Given the description of an element on the screen output the (x, y) to click on. 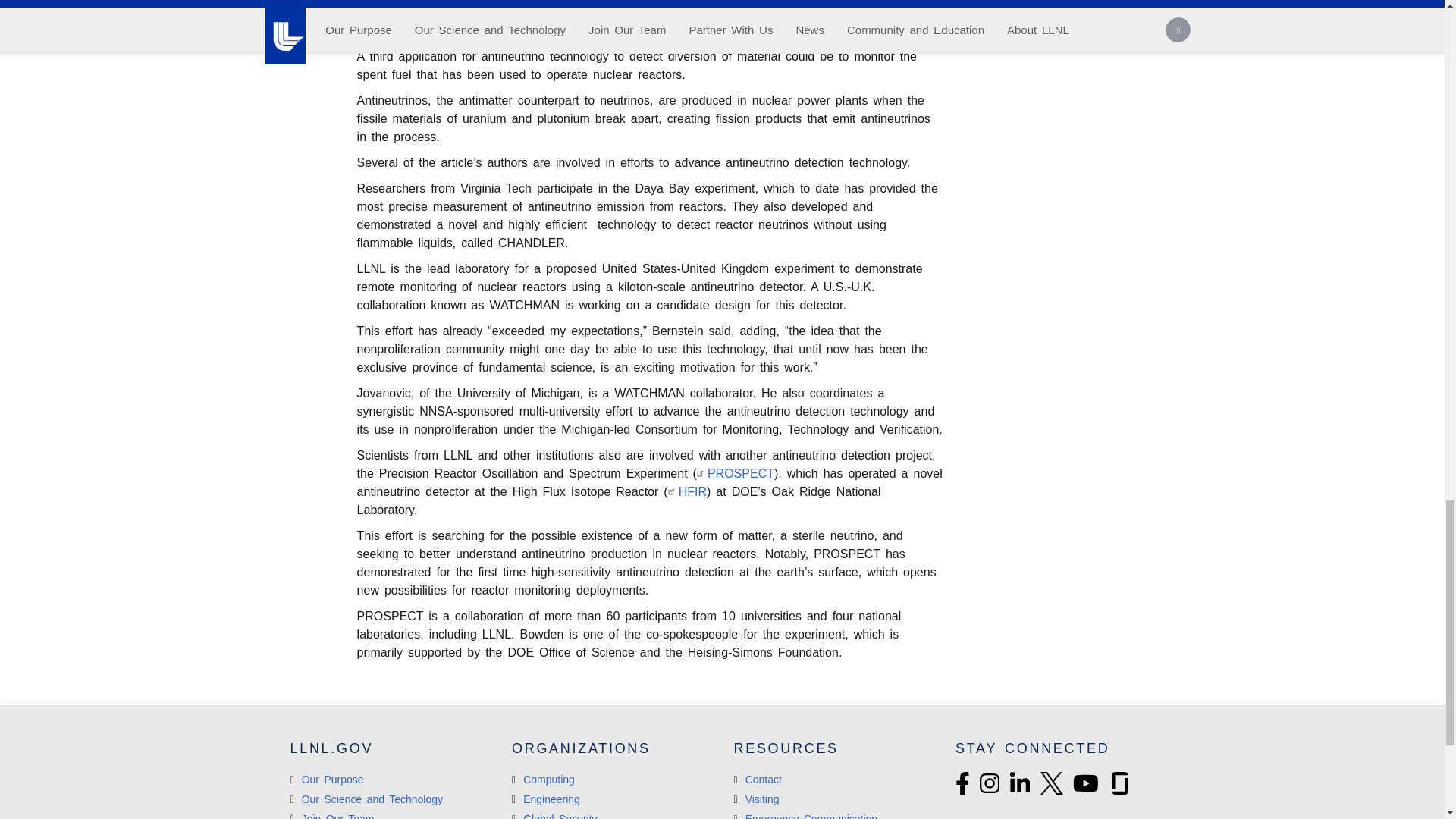
Science and Technology (365, 799)
Global Security (554, 816)
Careers (331, 816)
Computation (543, 779)
Engineering (545, 799)
Our Purpose (325, 779)
